Given the description of an element on the screen output the (x, y) to click on. 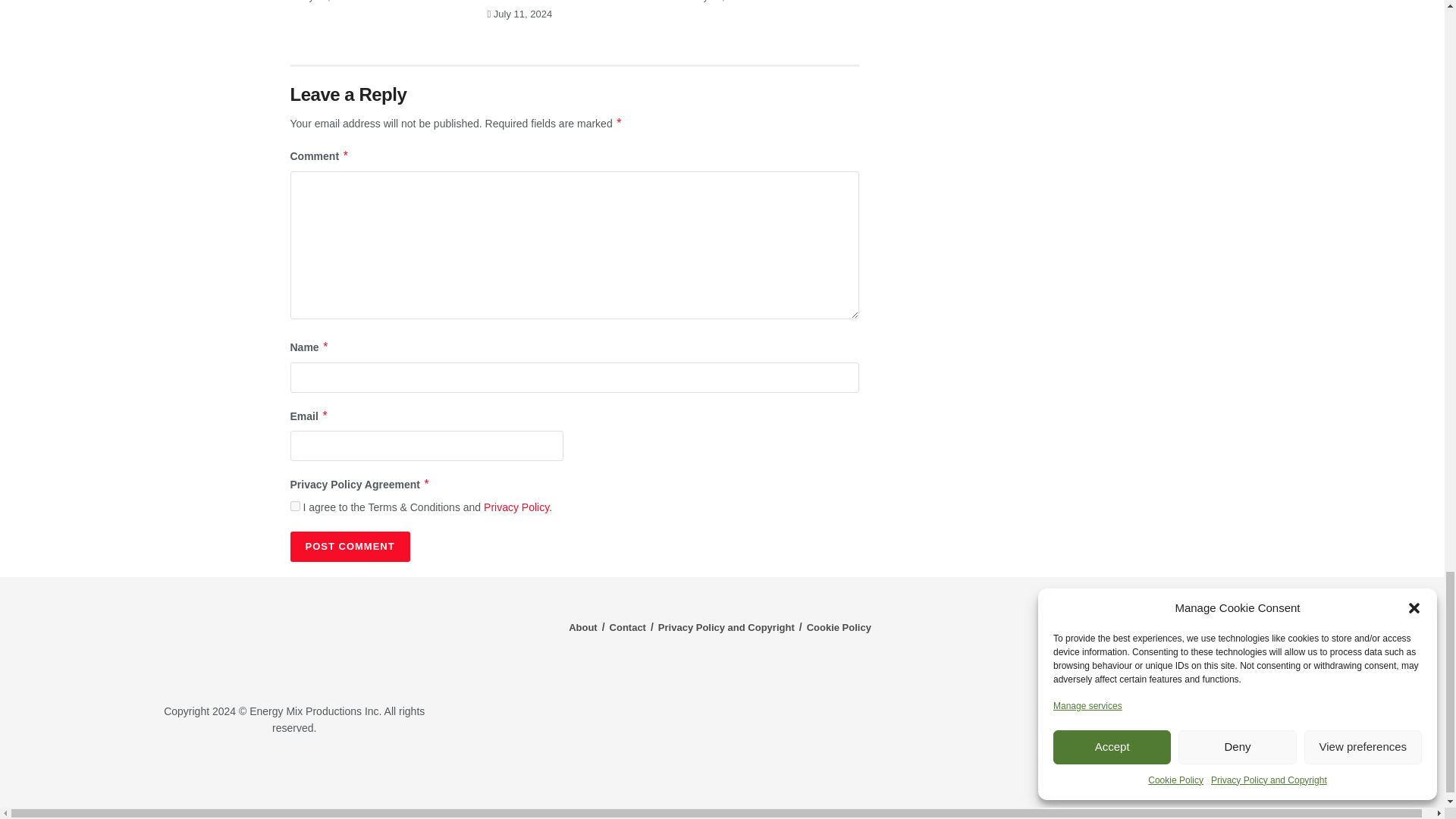
Climate-and-Capital (1221, 772)
on (294, 506)
Post Comment (349, 546)
tem-logo-2024 (294, 641)
